Given the description of an element on the screen output the (x, y) to click on. 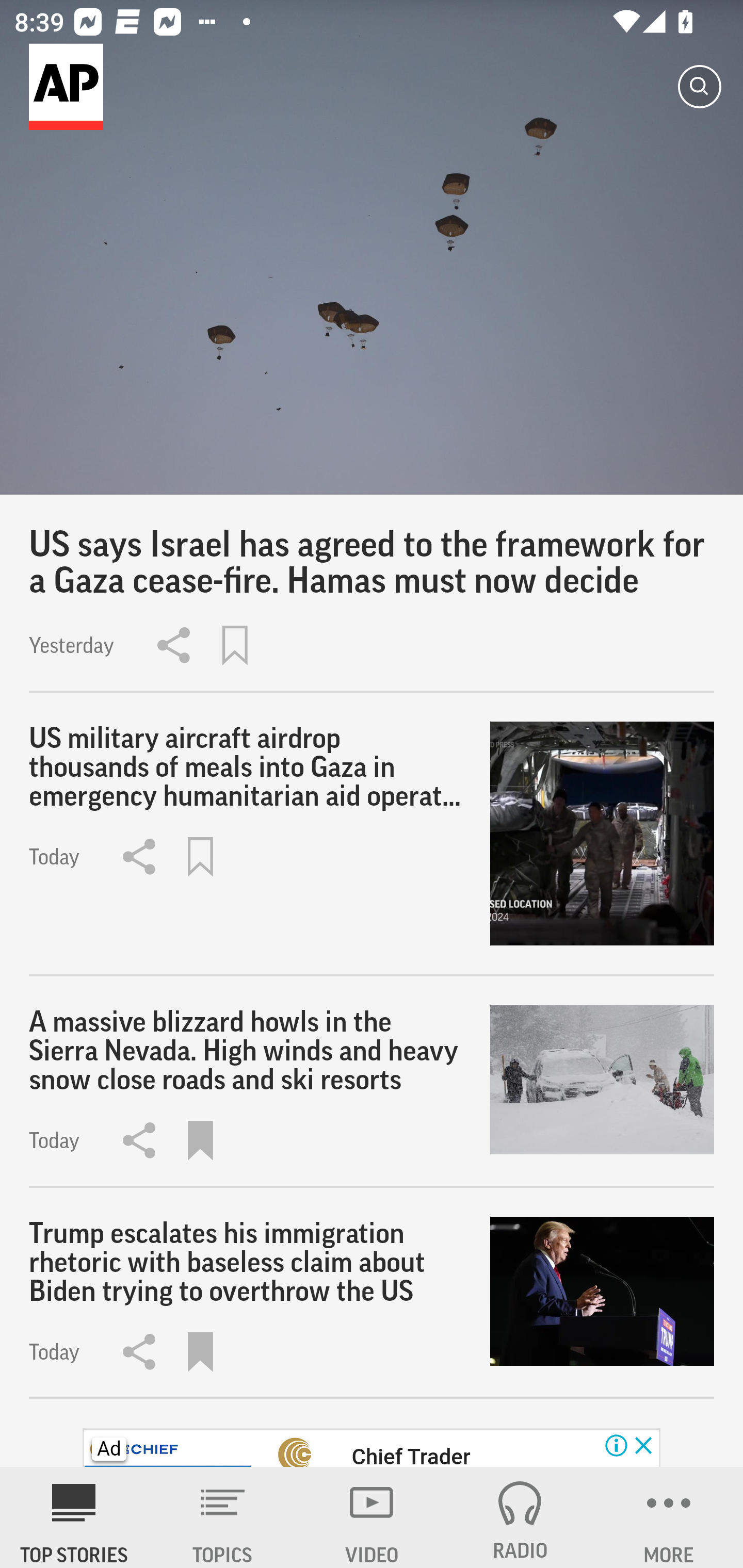
Chief Trader (409, 1454)
AP News TOP STORIES (74, 1517)
TOPICS (222, 1517)
VIDEO (371, 1517)
RADIO (519, 1517)
MORE (668, 1517)
